Given the description of an element on the screen output the (x, y) to click on. 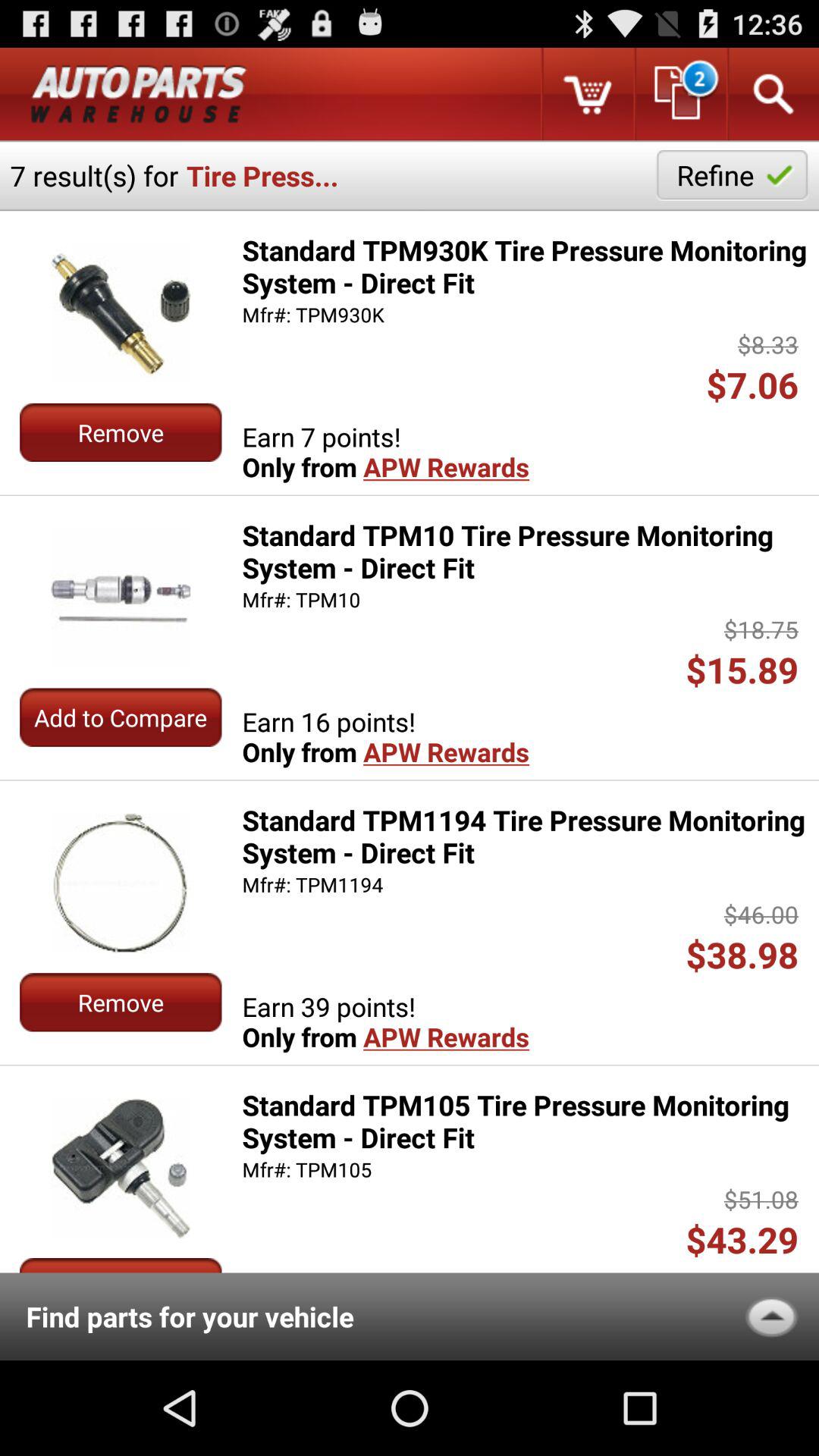
request of people (679, 93)
